Given the description of an element on the screen output the (x, y) to click on. 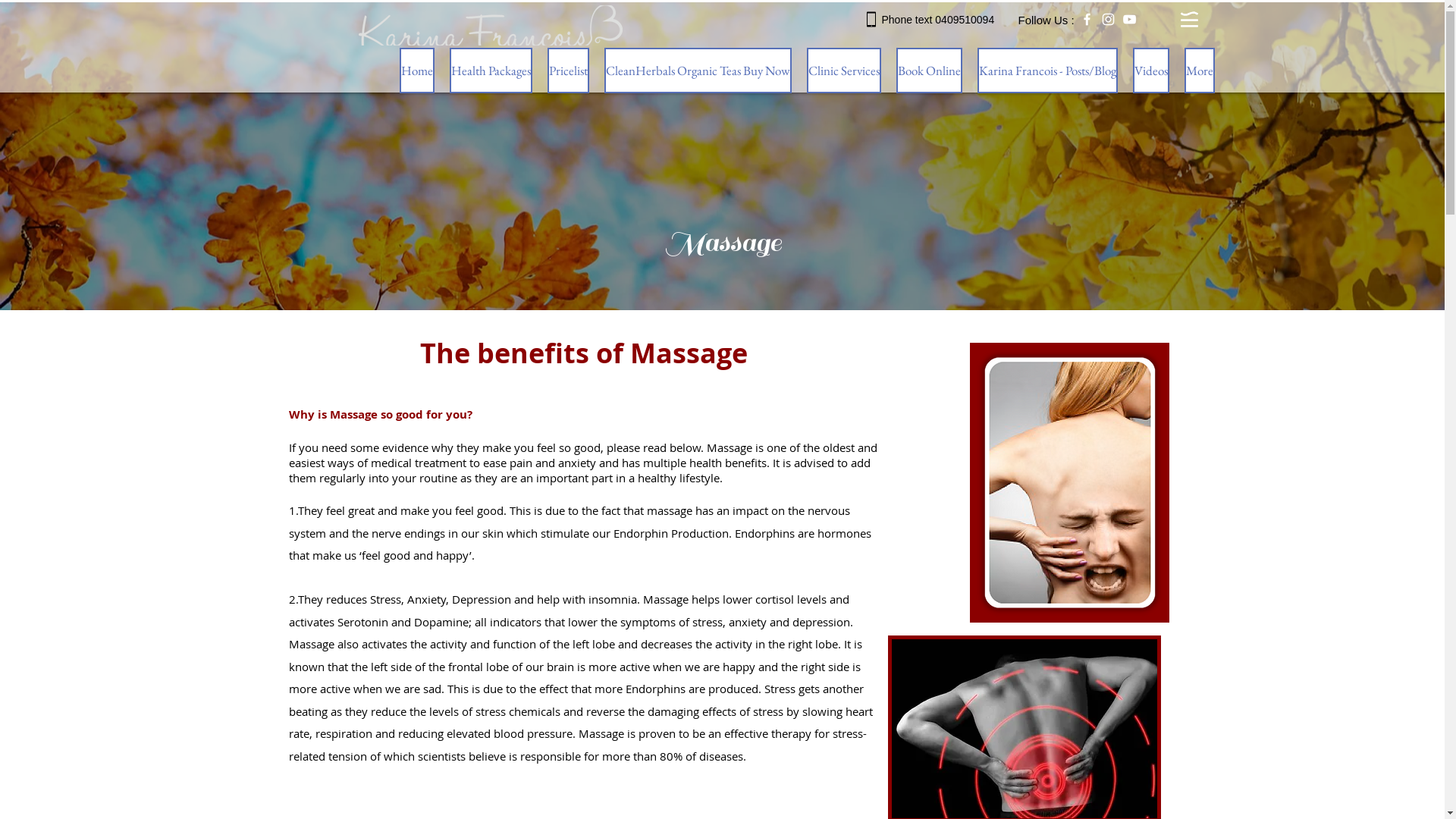
Book Online Element type: text (929, 70)
CleanHerbals Organic Teas Buy Now Element type: text (696, 70)
Home Element type: text (415, 70)
Health Packages Element type: text (489, 70)
Karina Francois - Posts/Blog Element type: text (1046, 70)
Videos Element type: text (1150, 70)
Clinic Services Element type: text (843, 70)
Pricelist Element type: text (568, 70)
